Given the description of an element on the screen output the (x, y) to click on. 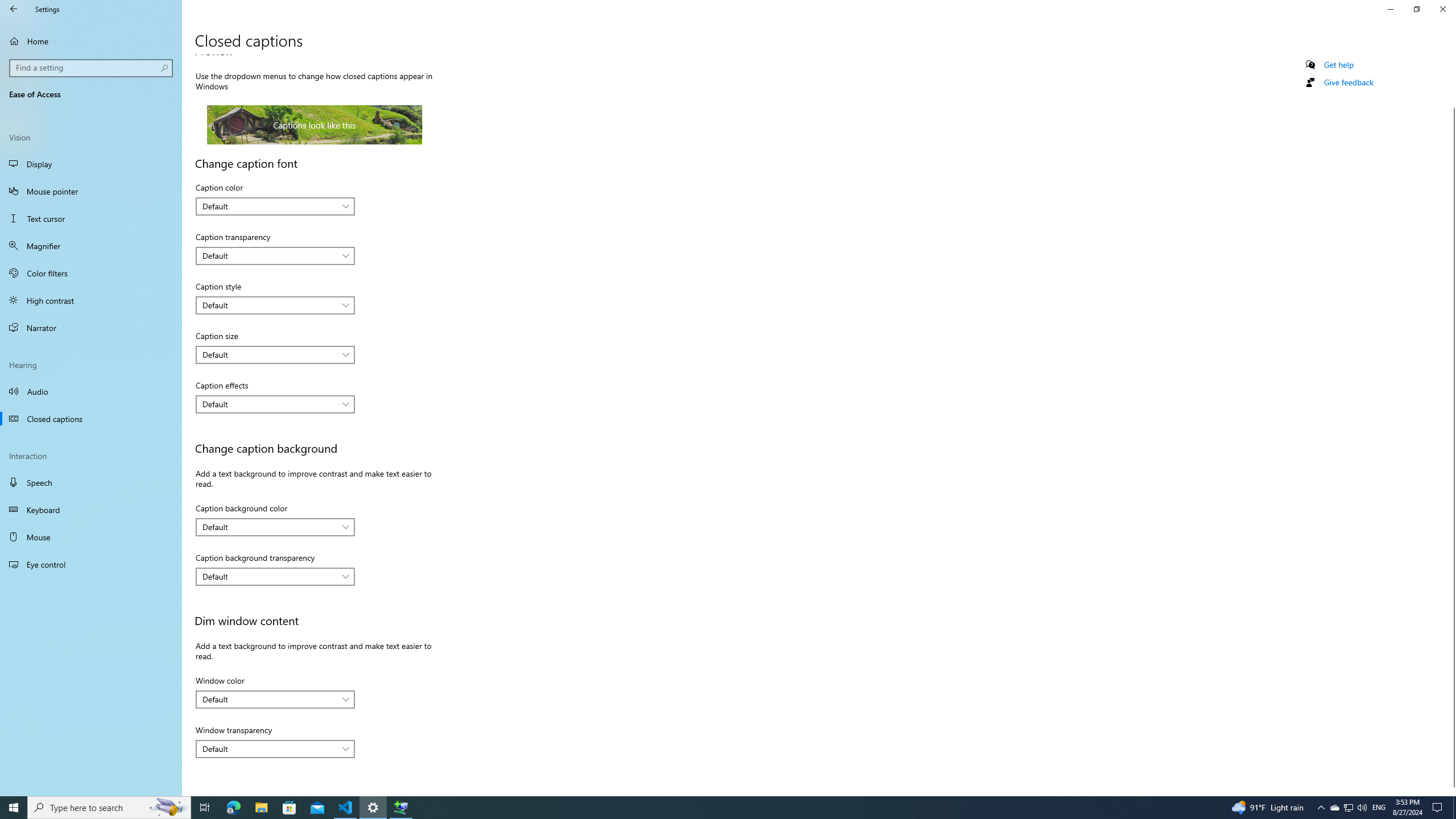
Video playback settings (1347, 26)
Vertical Small Increase (1451, 791)
Caption background transparency (275, 576)
Closed captions (91, 418)
Magnifier (91, 245)
Speech (91, 482)
Narrator (91, 327)
